Given the description of an element on the screen output the (x, y) to click on. 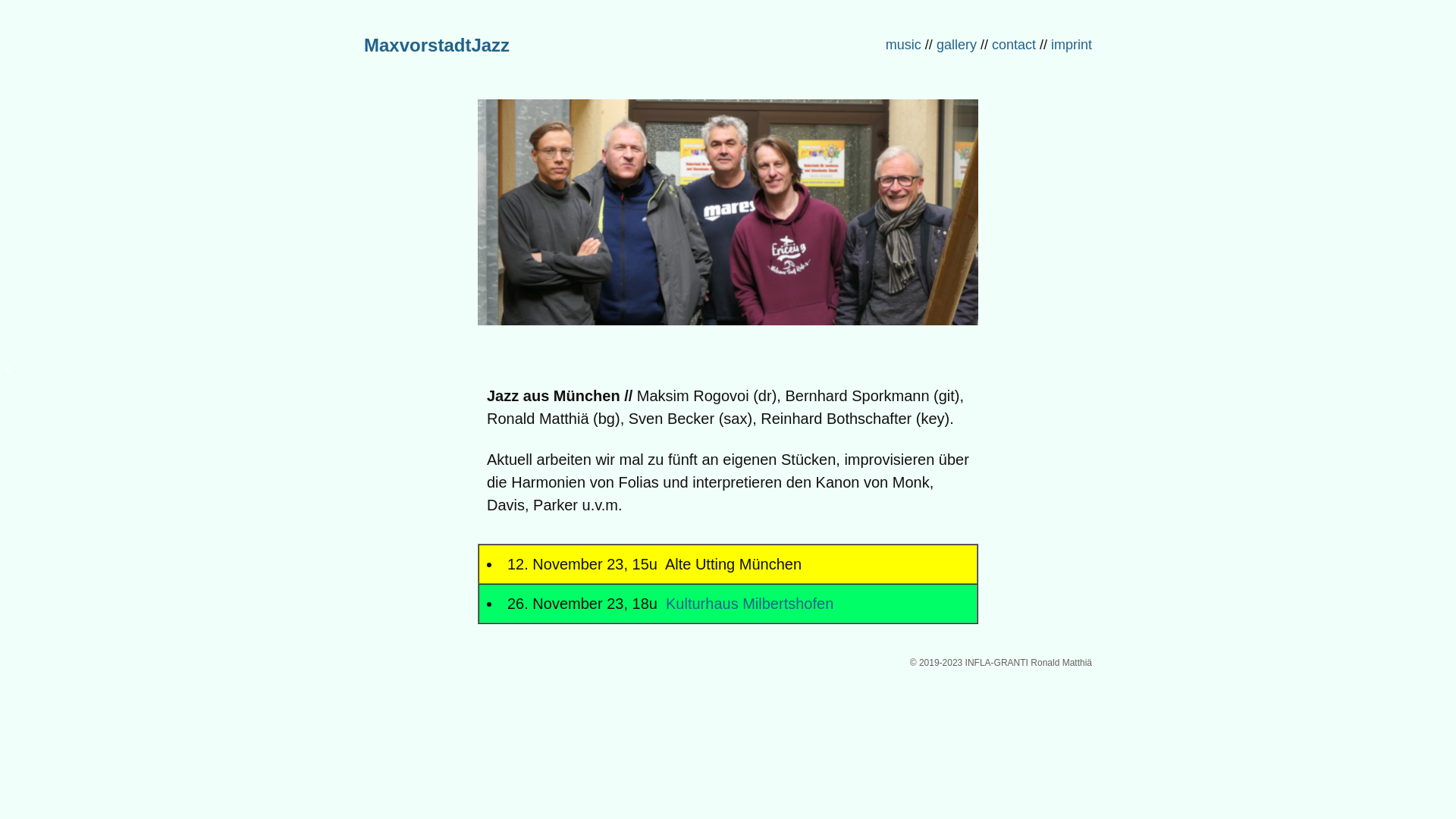
contact Element type: text (1013, 44)
MaxvorstadtJazz Element type: text (436, 44)
music Element type: text (903, 44)
 Kulturhaus Milbertshofen Element type: text (747, 603)
imprint  Element type: text (1073, 44)
gallery Element type: text (956, 44)
